Given the description of an element on the screen output the (x, y) to click on. 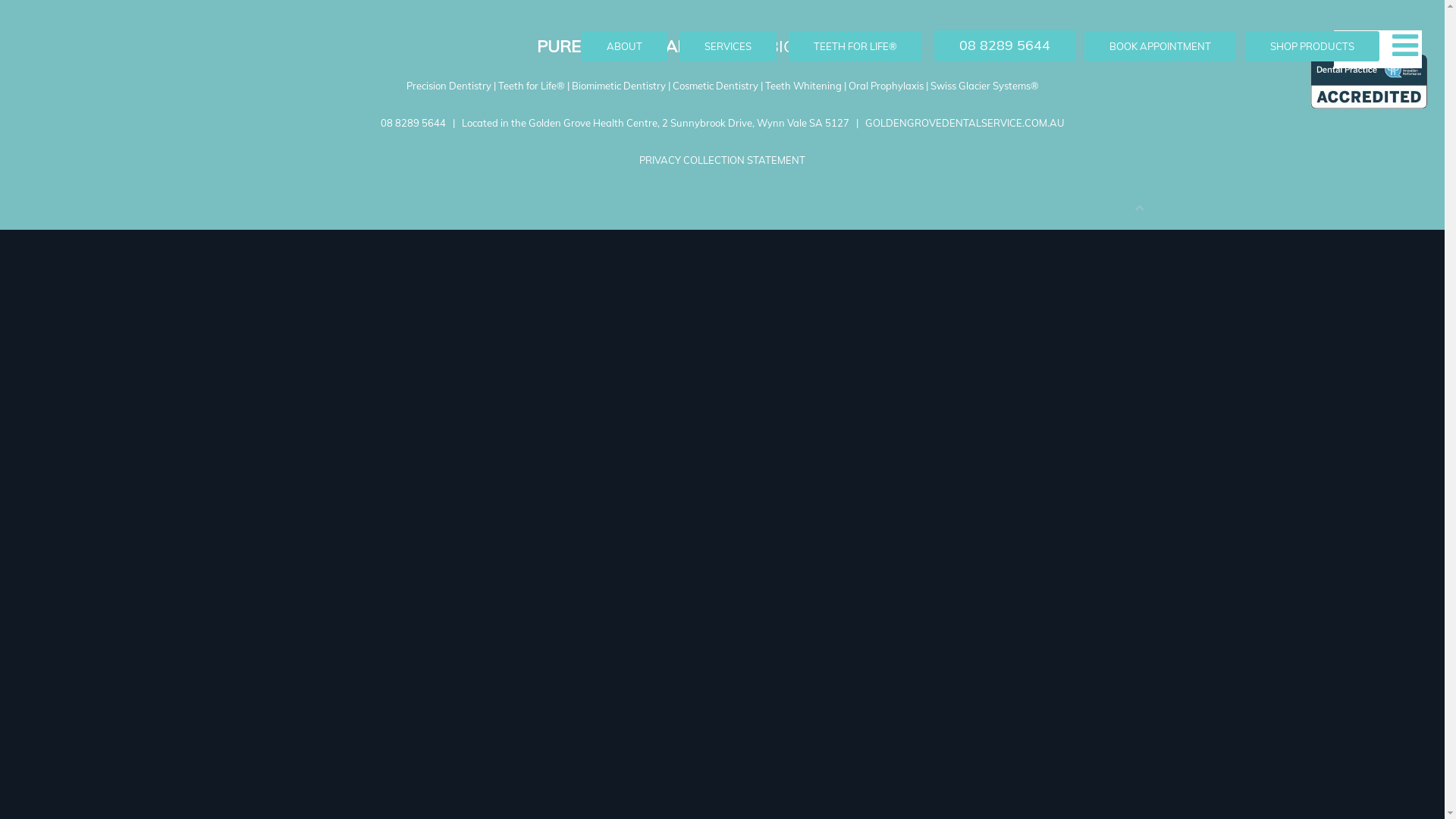
08 8289 5644 Element type: text (1004, 45)
Teeth Whitening | Element type: text (805, 85)
Precision Dentistry | Element type: text (452, 85)
PRIVACY COLLECTION STATEMENT Element type: text (722, 159)
BOOK APPOINTMENT Element type: text (1160, 45)
Biomimetic Dentistry | Element type: text (621, 85)
SERVICES Element type: text (727, 45)
ABOUT Element type: text (624, 45)
08 8289 5644 Element type: text (412, 122)
SHOP PRODUCTS Element type: text (1312, 45)
Oral Prophylaxis | Element type: text (888, 85)
Cosmetic Dentistry | Element type: text (717, 85)
